Given the description of an element on the screen output the (x, y) to click on. 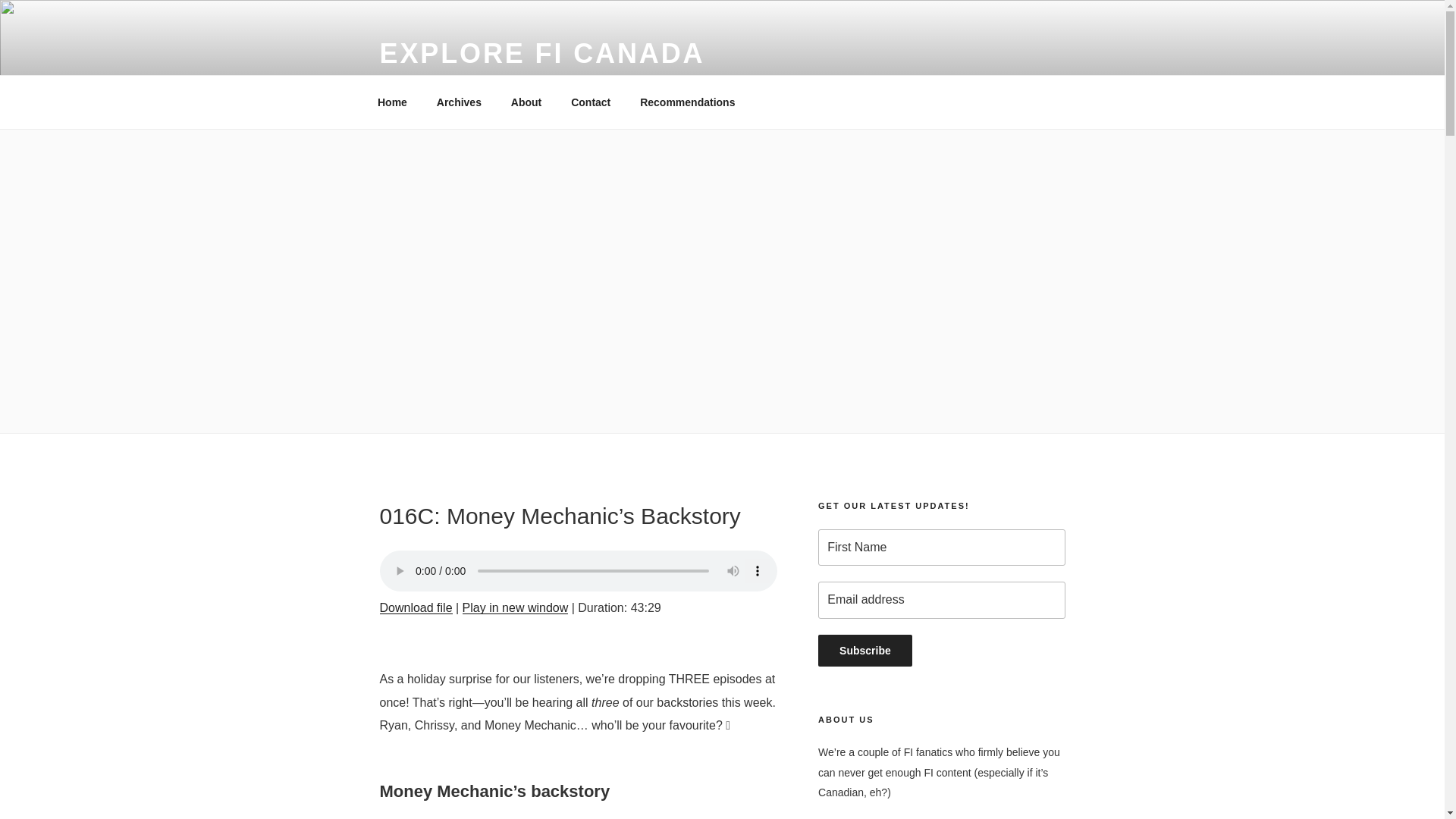
EXPLORE FI CANADA (541, 52)
Contact (590, 102)
About (525, 102)
Archives (459, 102)
Recommendations (687, 102)
Download file (414, 607)
Subscribe (865, 650)
Home (392, 102)
Play in new window (516, 607)
